Given the description of an element on the screen output the (x, y) to click on. 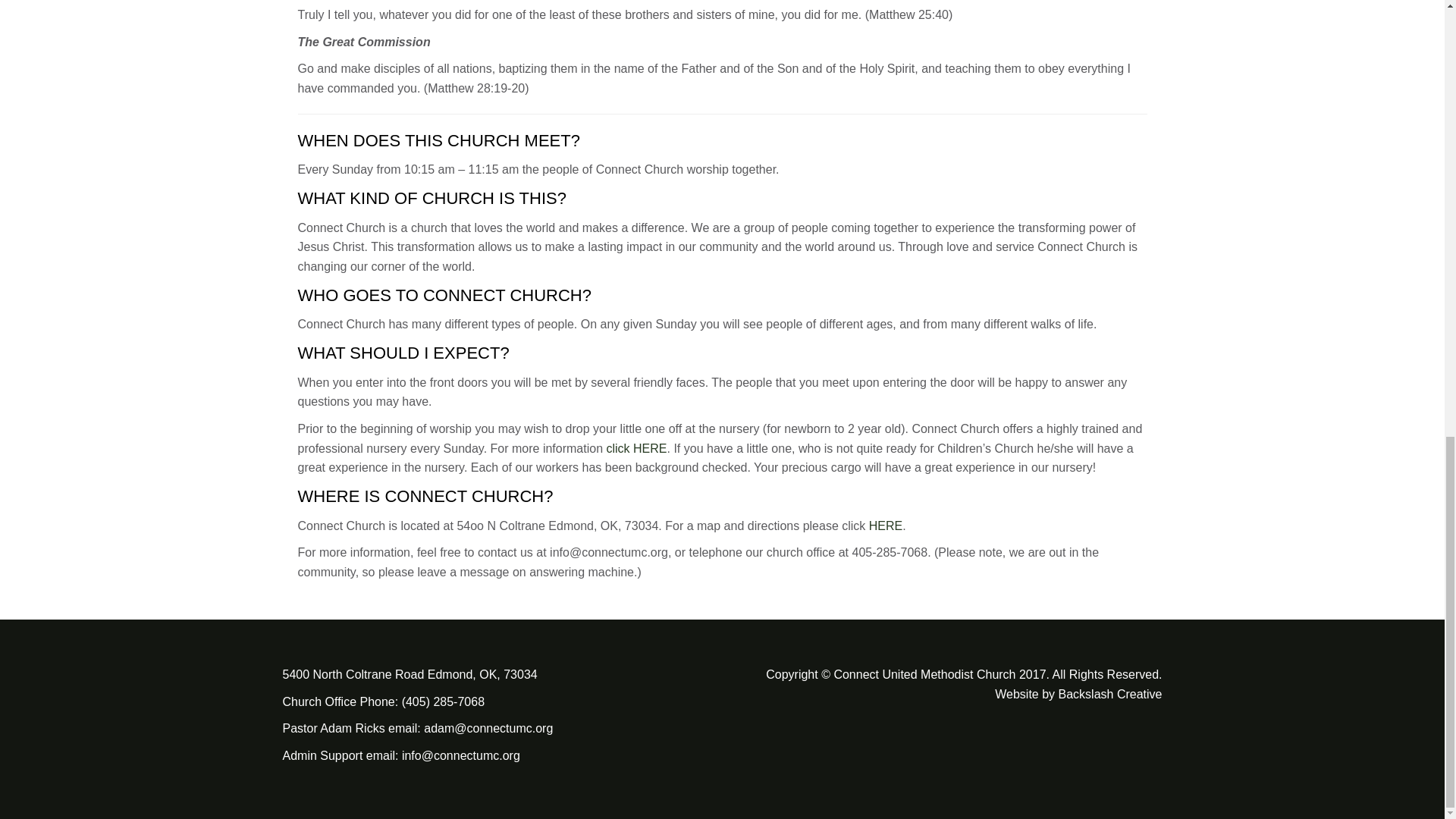
click HERE (636, 448)
Children (636, 448)
Backslash Creative (1109, 694)
HERE (885, 525)
5400 North Coltrane Road Edmond, OK, 73034 (409, 674)
